Given the description of an element on the screen output the (x, y) to click on. 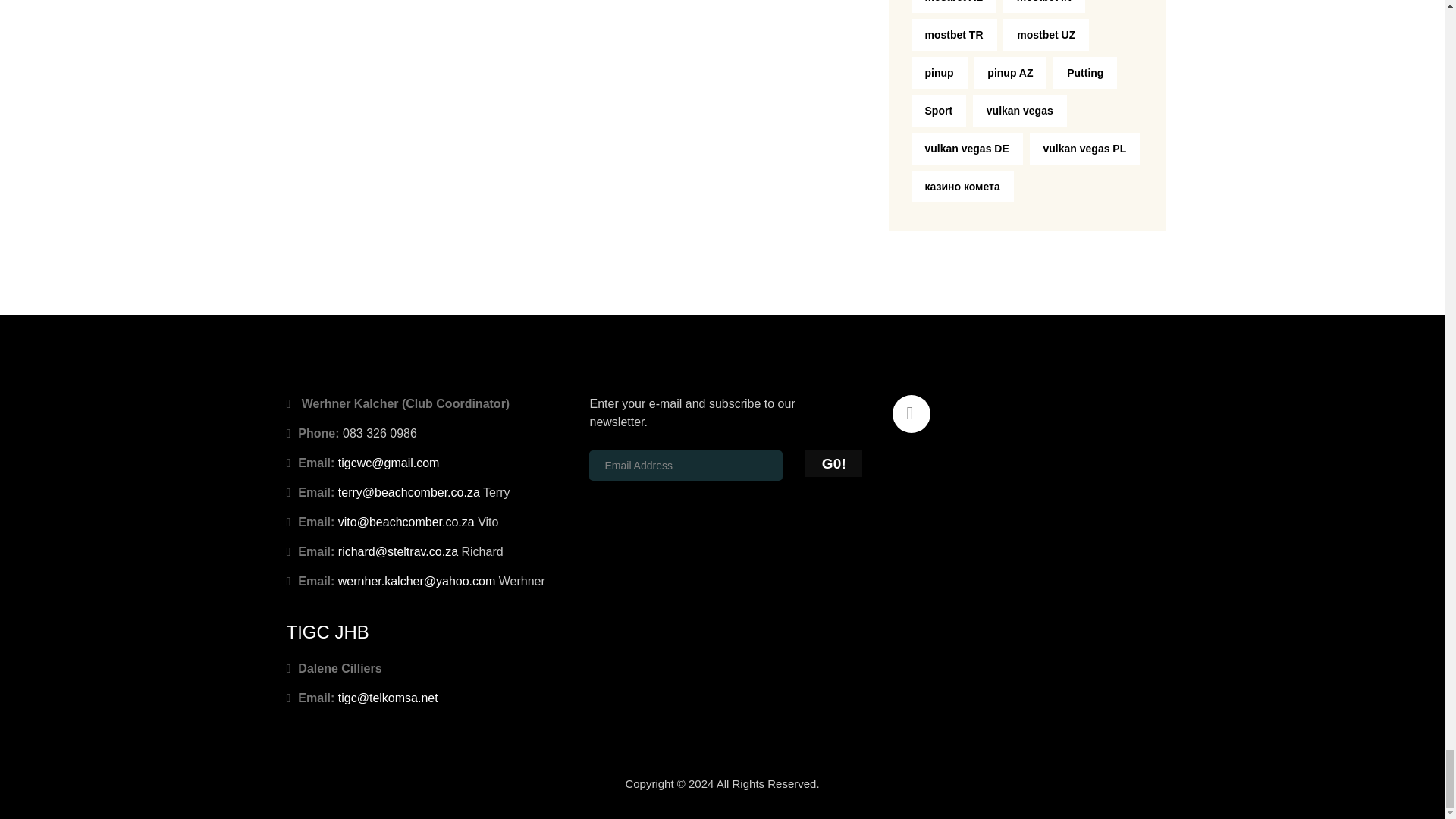
G0! (833, 463)
Facebook (913, 414)
Email Address (686, 465)
